Given the description of an element on the screen output the (x, y) to click on. 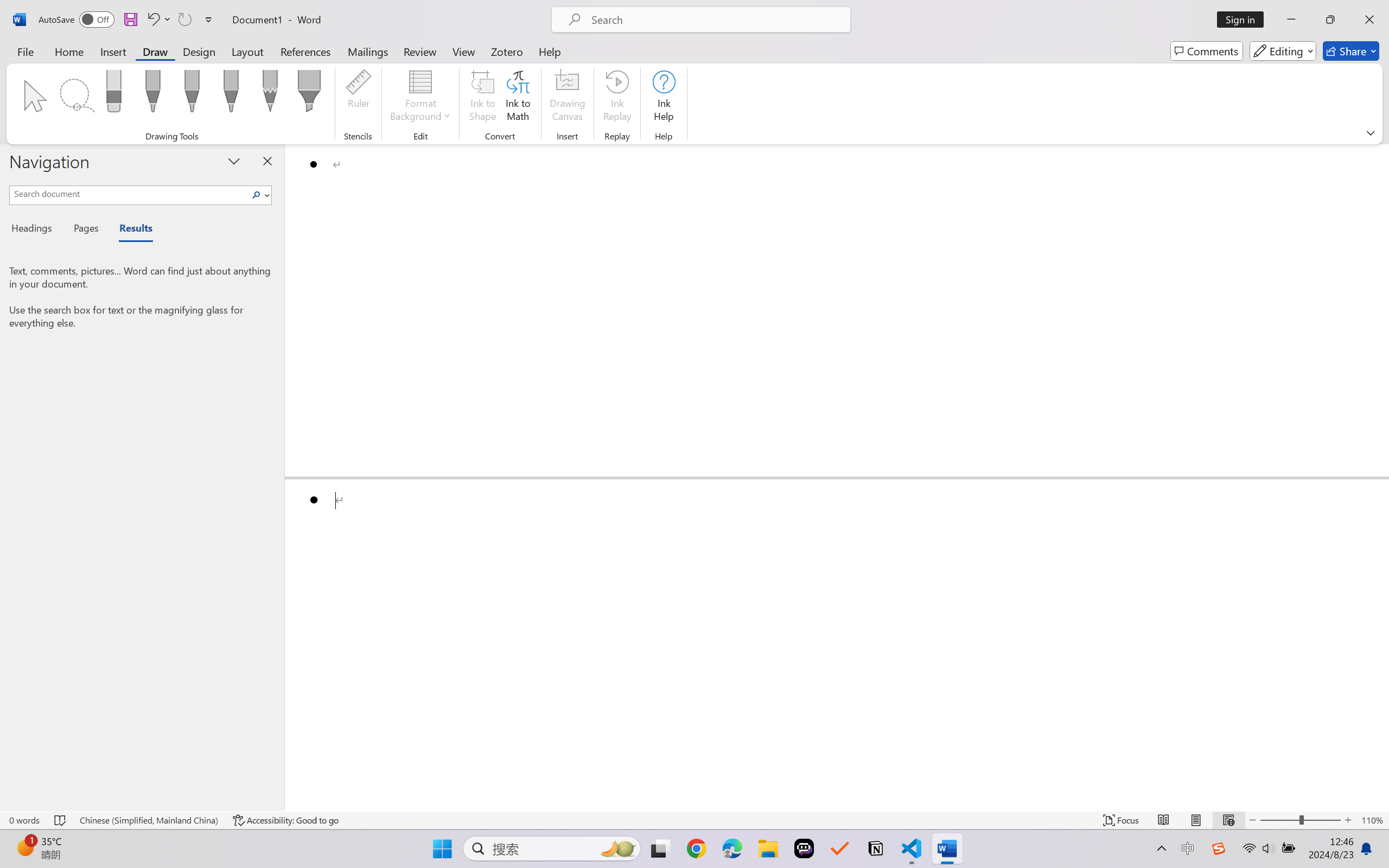
Zoom 110% (1372, 819)
Results (130, 229)
Format Background (420, 97)
Drawing Canvas (567, 97)
Ruler (358, 97)
